Given the description of an element on the screen output the (x, y) to click on. 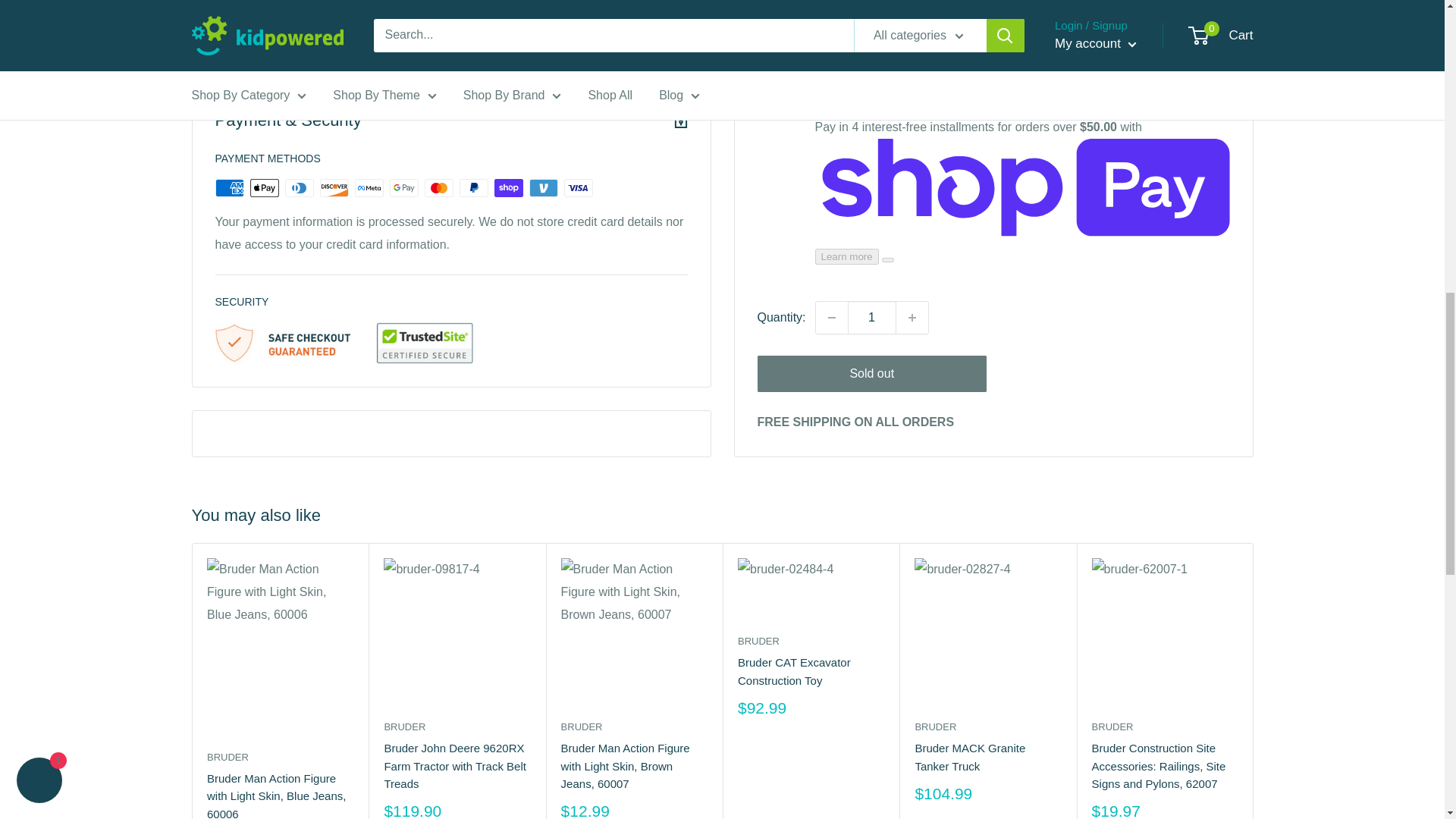
1 (871, 49)
Increase quantity by 1 (912, 49)
Decrease quantity by 1 (831, 49)
